Given the description of an element on the screen output the (x, y) to click on. 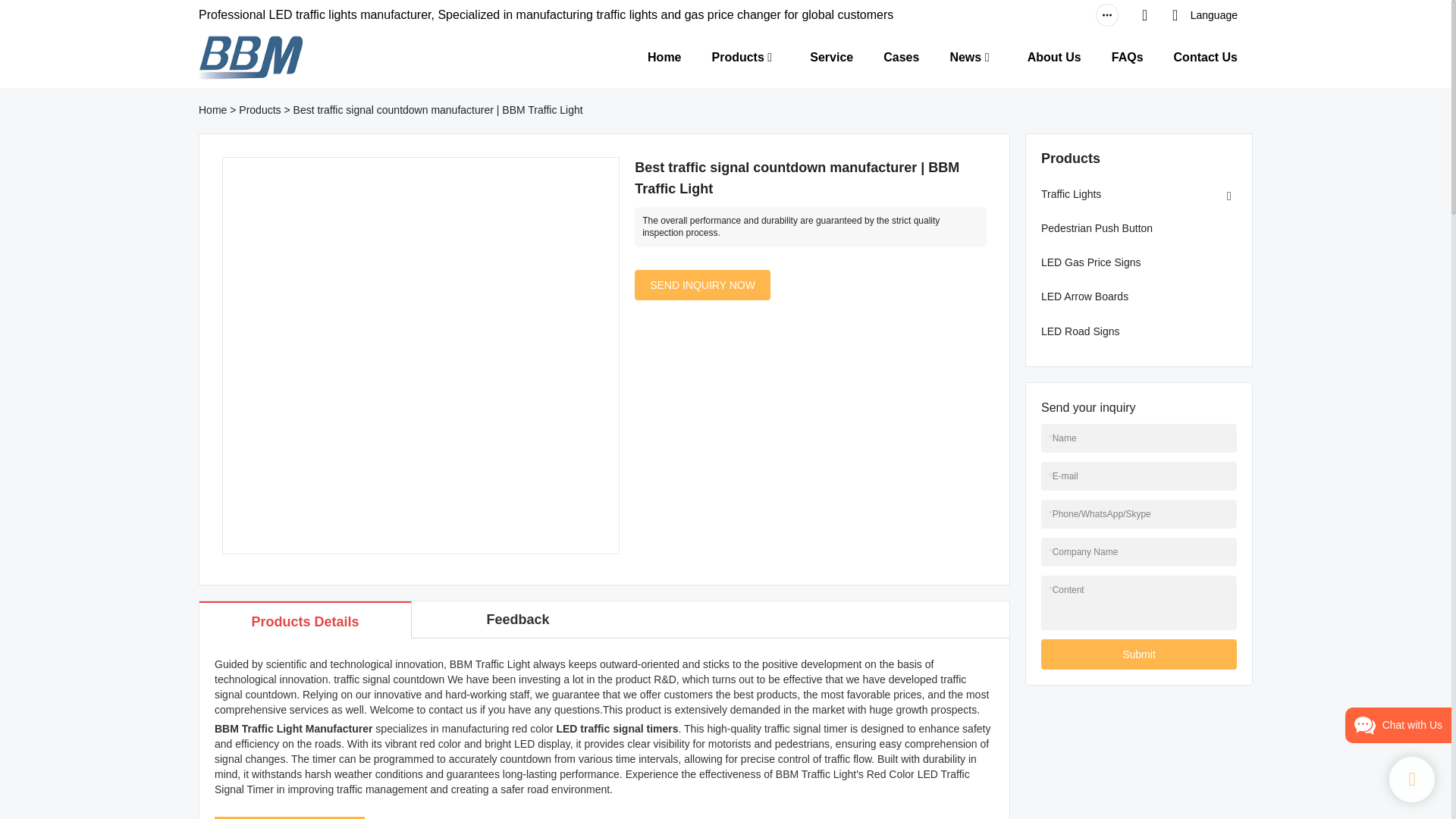
Home (212, 110)
Home (664, 56)
Service (831, 56)
FAQs (1127, 56)
youtube (1015, 15)
Products (259, 110)
Cases (900, 56)
facebook (1045, 15)
News (965, 56)
Contact Us (1205, 56)
